Given the description of an element on the screen output the (x, y) to click on. 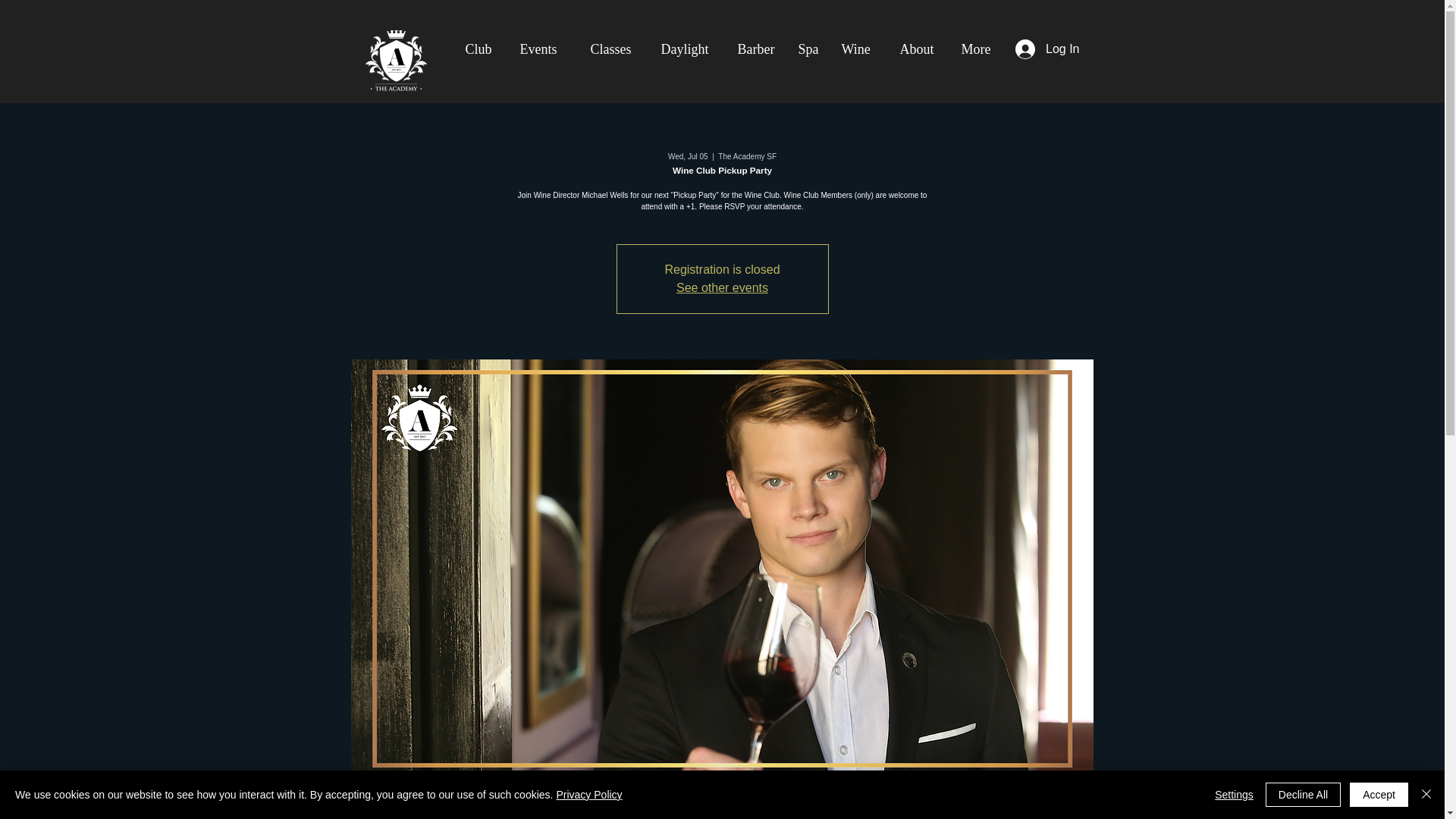
Log In (1046, 49)
Spa (807, 48)
See other events (722, 287)
Barber (753, 48)
